Given the description of an element on the screen output the (x, y) to click on. 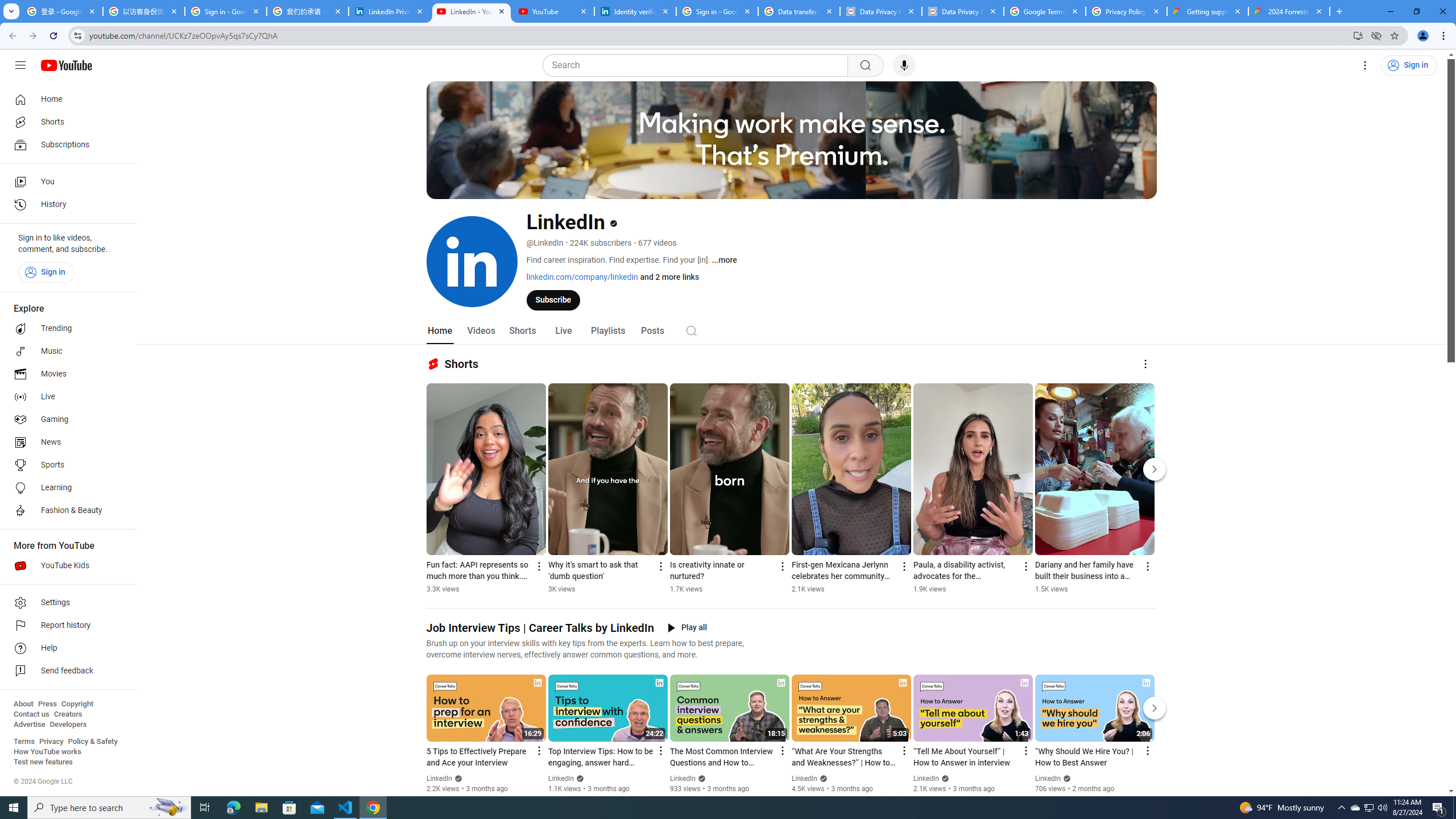
Settings (64, 602)
Sign in - Google Accounts (225, 11)
You (1422, 35)
Reload (52, 35)
Install YouTube (1358, 35)
Guide (20, 65)
Sports (64, 464)
Creators (67, 714)
About (23, 703)
Is creativity innate or nurtured? - play Short (722, 571)
Live (562, 330)
